Given the description of an element on the screen output the (x, y) to click on. 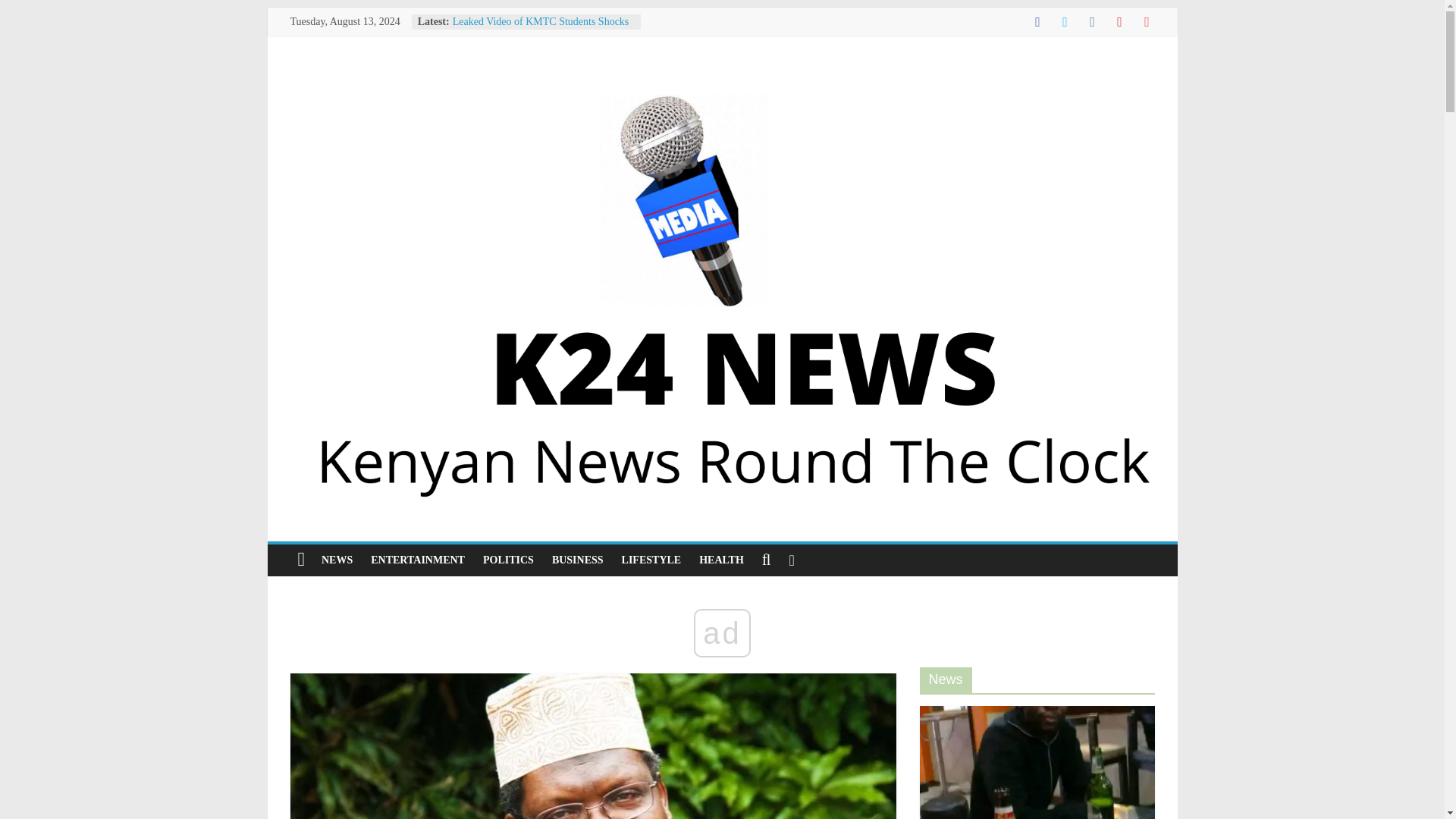
NEWS (337, 560)
POLITICS (508, 560)
Leaked Video of KMTC Students Shocks Many (540, 28)
HEALTH (721, 560)
ENTERTAINMENT (417, 560)
LIFESTYLE (651, 560)
BUSINESS (577, 560)
Leaked Video of KMTC Students Shocks Many (540, 28)
